Given the description of an element on the screen output the (x, y) to click on. 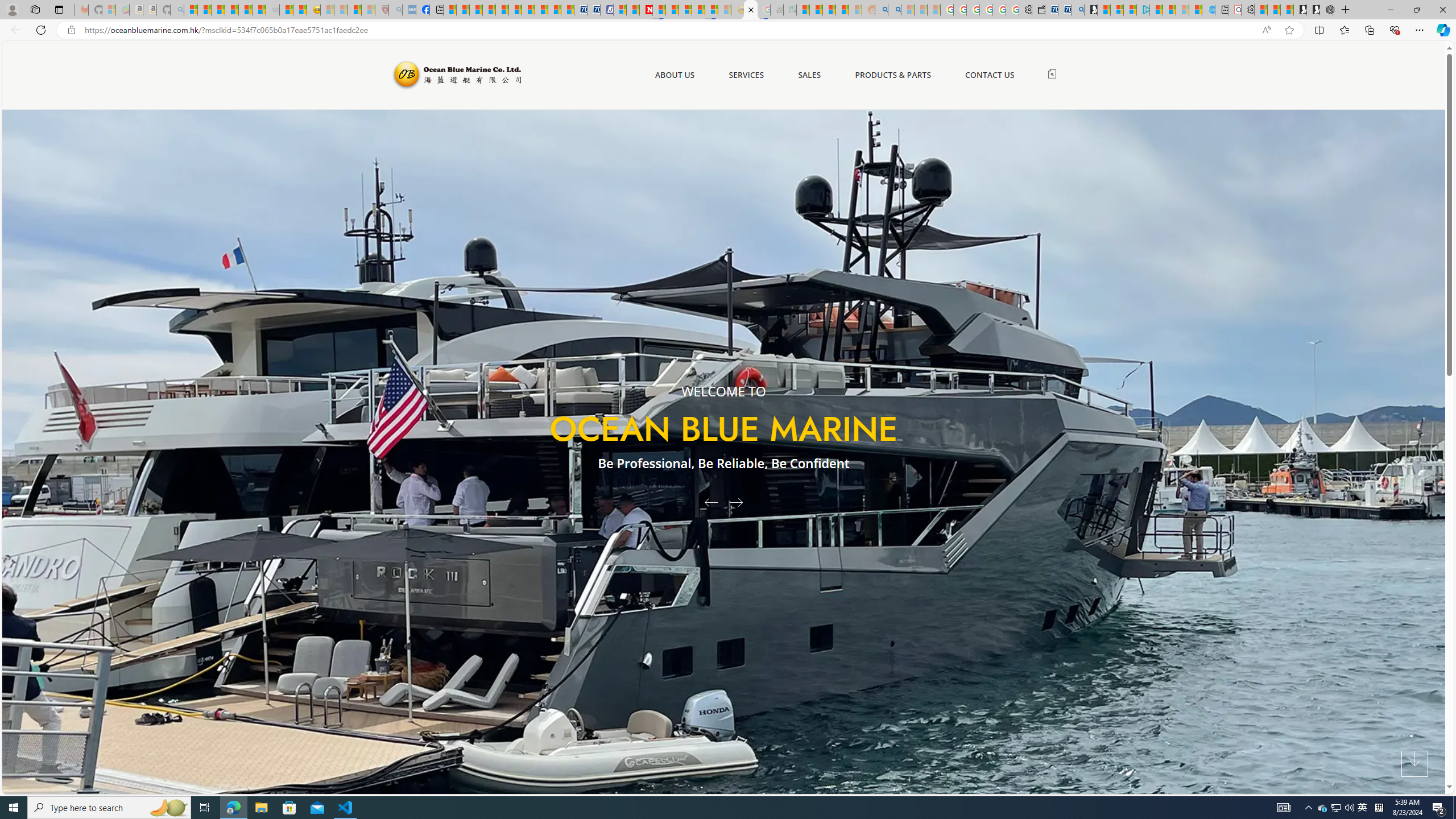
SERVICES (746, 74)
Combat Siege - Sleeping (271, 9)
Wallet (1037, 9)
